Given the description of an element on the screen output the (x, y) to click on. 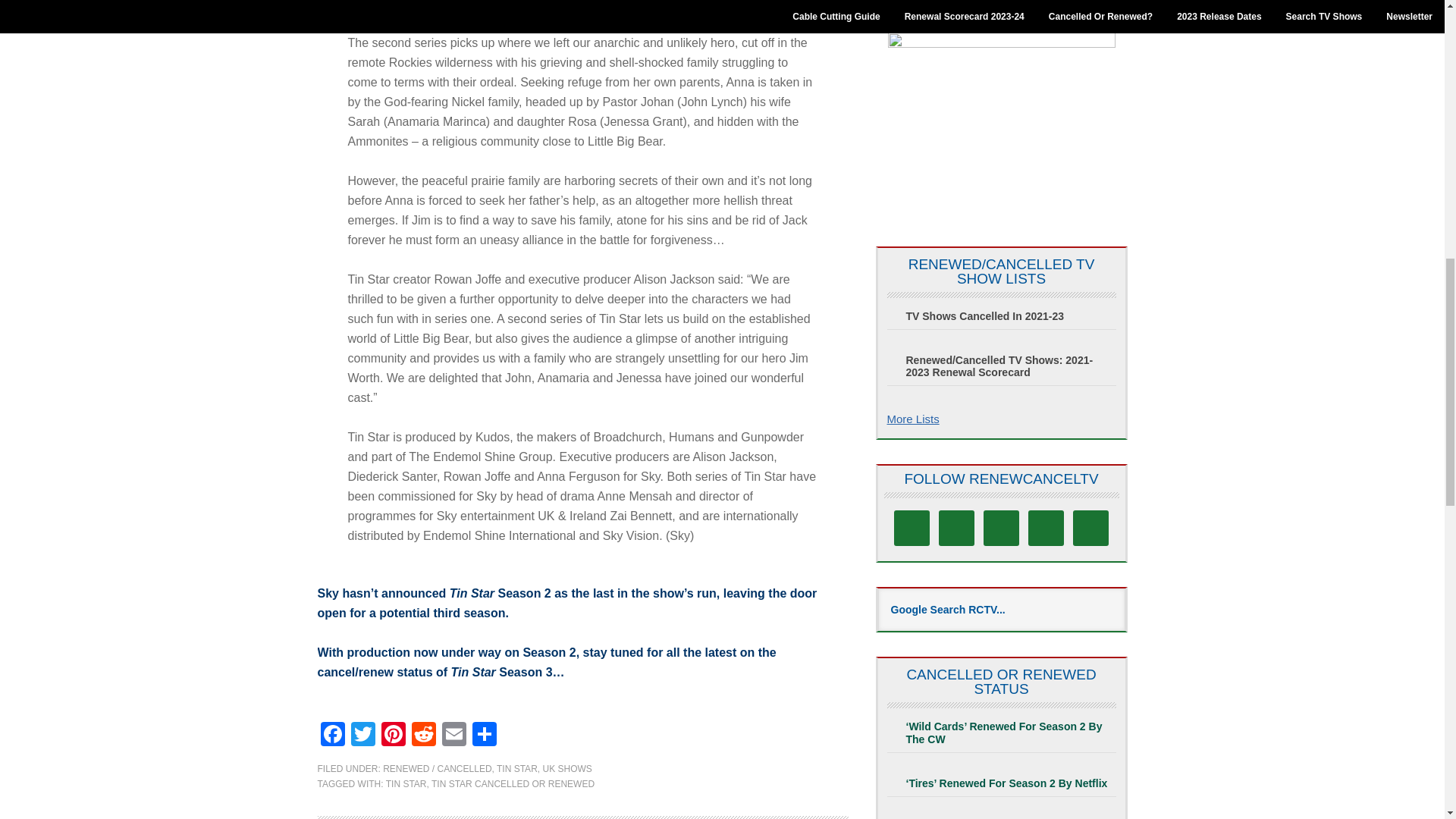
Google Search RCTV... (1001, 609)
Email (453, 735)
Twitter (362, 735)
Pinterest (392, 735)
Google Search RCTV... (1001, 609)
Reddit (422, 735)
Facebook (332, 735)
